Given the description of an element on the screen output the (x, y) to click on. 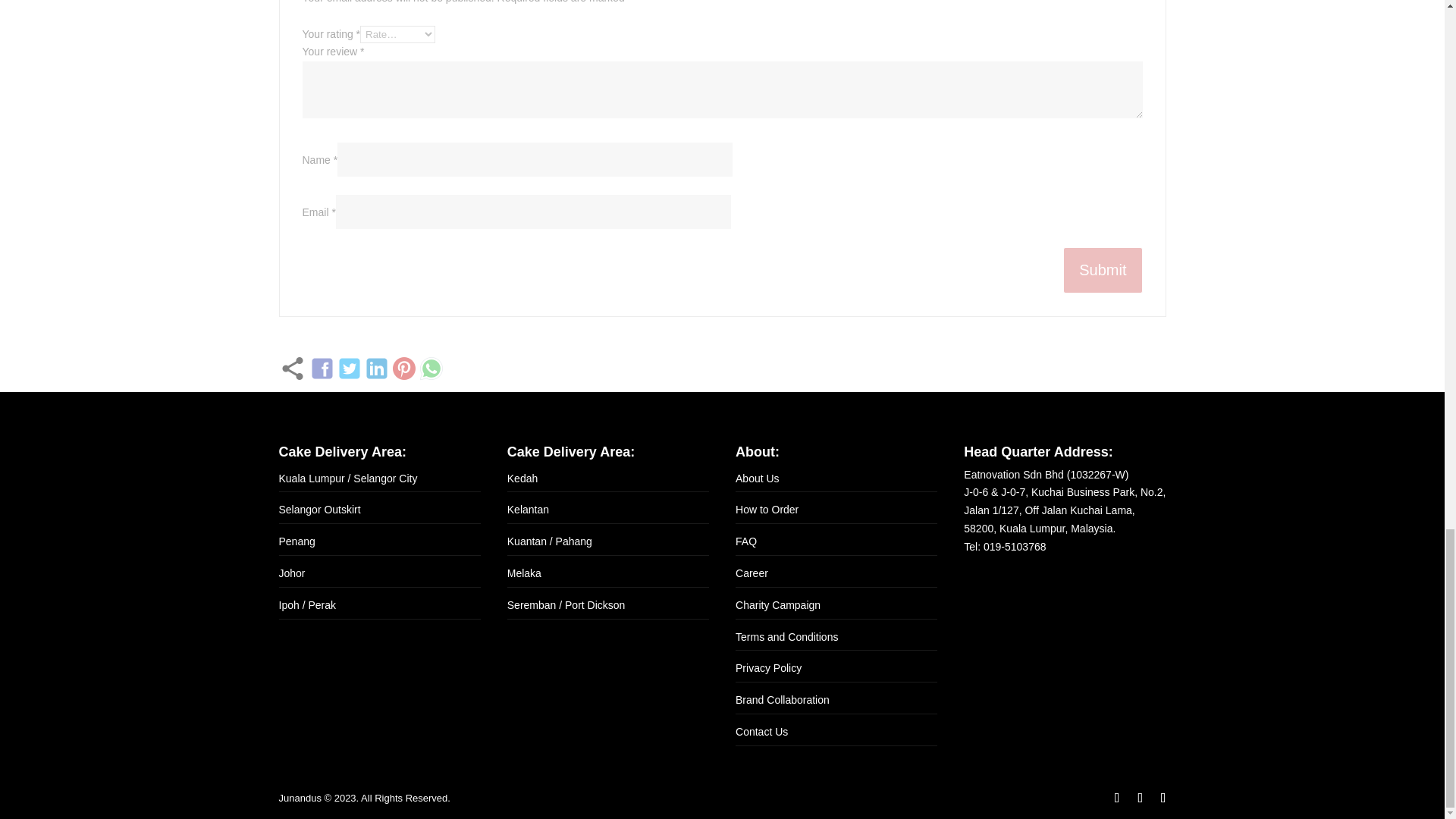
Share on Pinterest (403, 368)
Submit (1101, 270)
Share on Linkedin (376, 368)
Share on twitter (349, 368)
Share on WhatsApp (431, 368)
Share this (292, 368)
Share on facebook (322, 368)
